Given the description of an element on the screen output the (x, y) to click on. 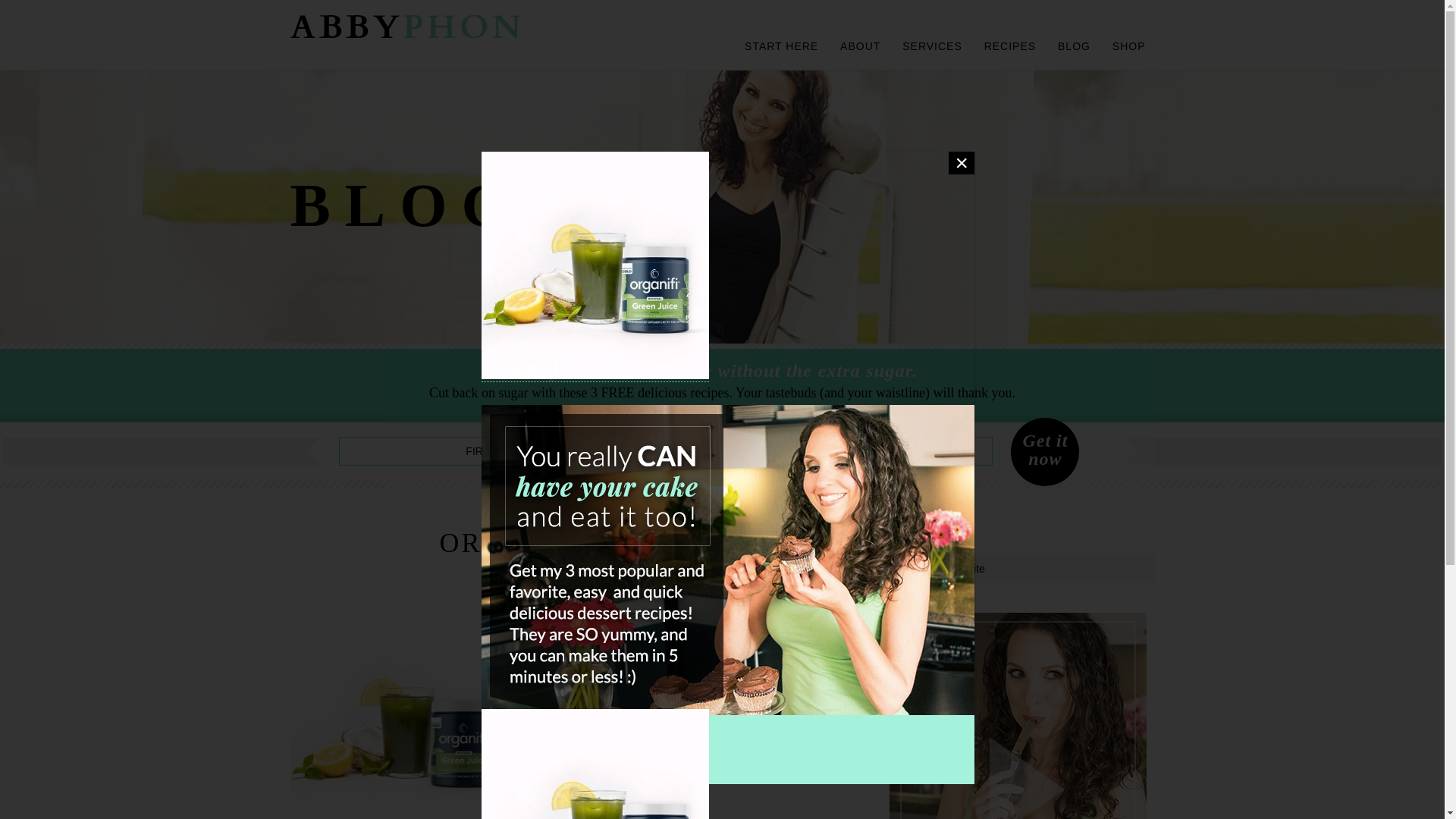
BLOG (1073, 44)
RECIPES (1010, 44)
ABOUT (860, 44)
SERVICES (932, 44)
SHOP (1128, 44)
START HERE (781, 44)
Get it now (1044, 451)
Get it now (1044, 451)
ABBY PHON (404, 26)
